Given the description of an element on the screen output the (x, y) to click on. 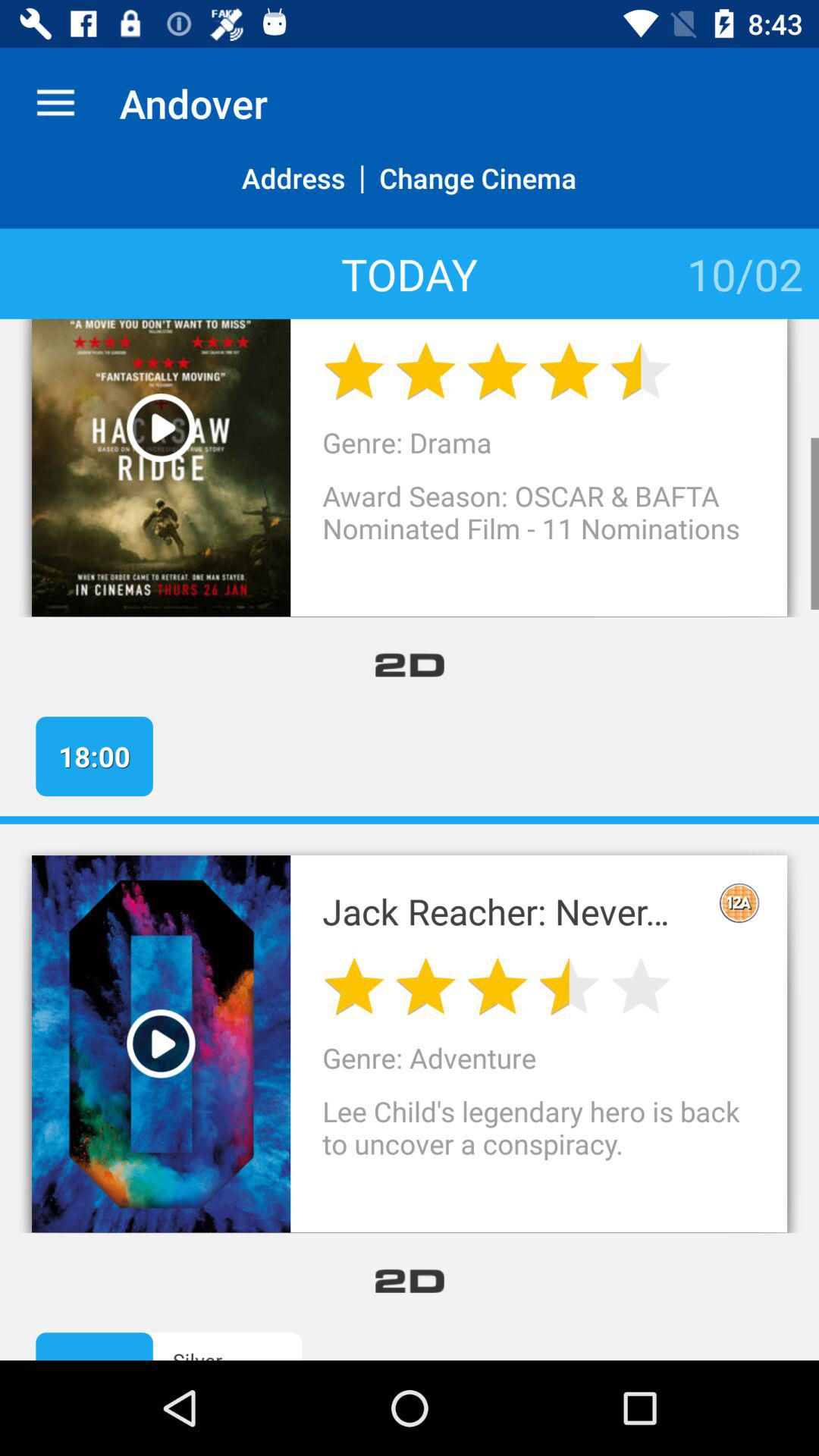
play the video (160, 1042)
